Given the description of an element on the screen output the (x, y) to click on. 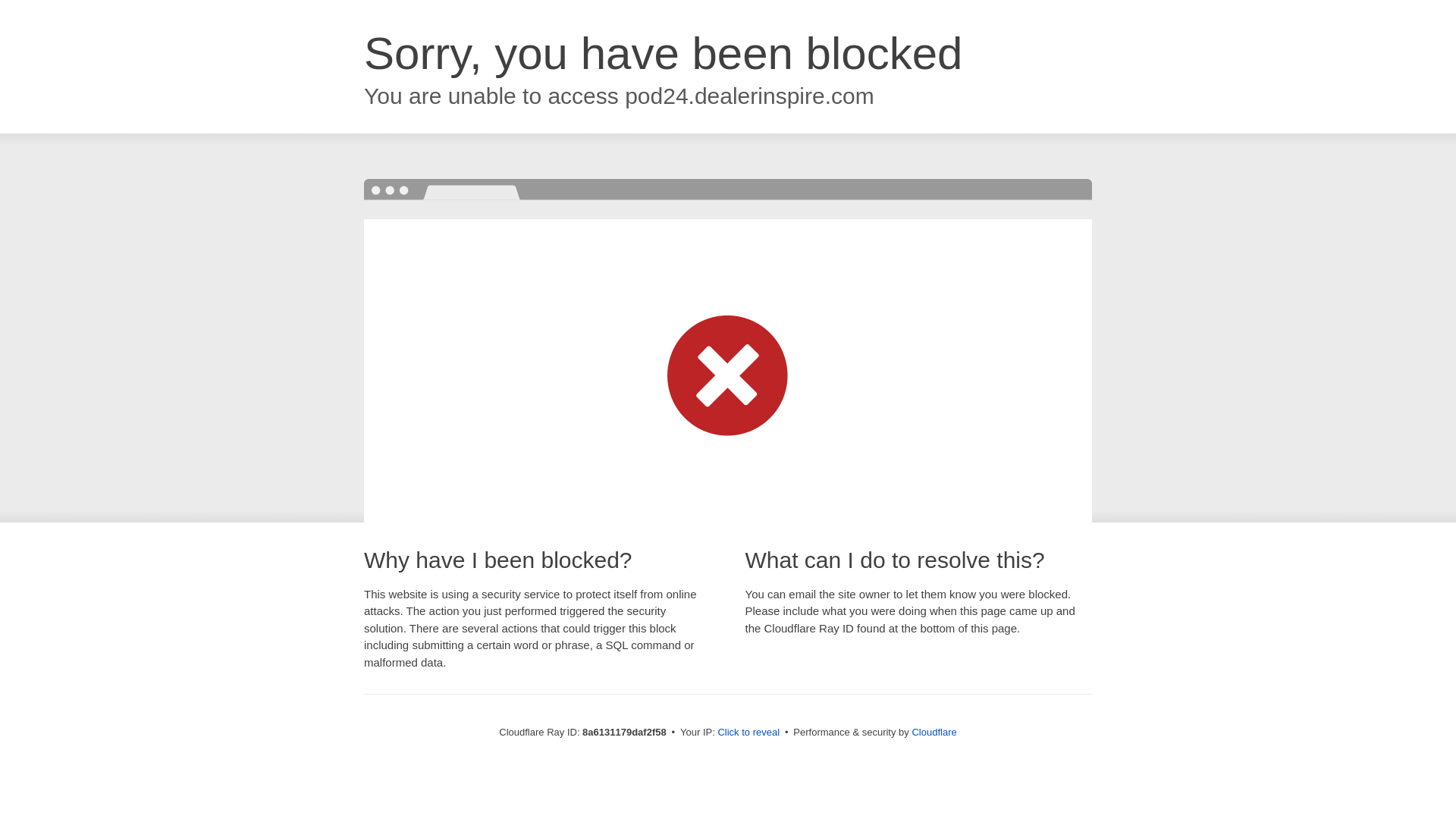
Click to reveal (747, 732)
Cloudflare (933, 731)
